Given the description of an element on the screen output the (x, y) to click on. 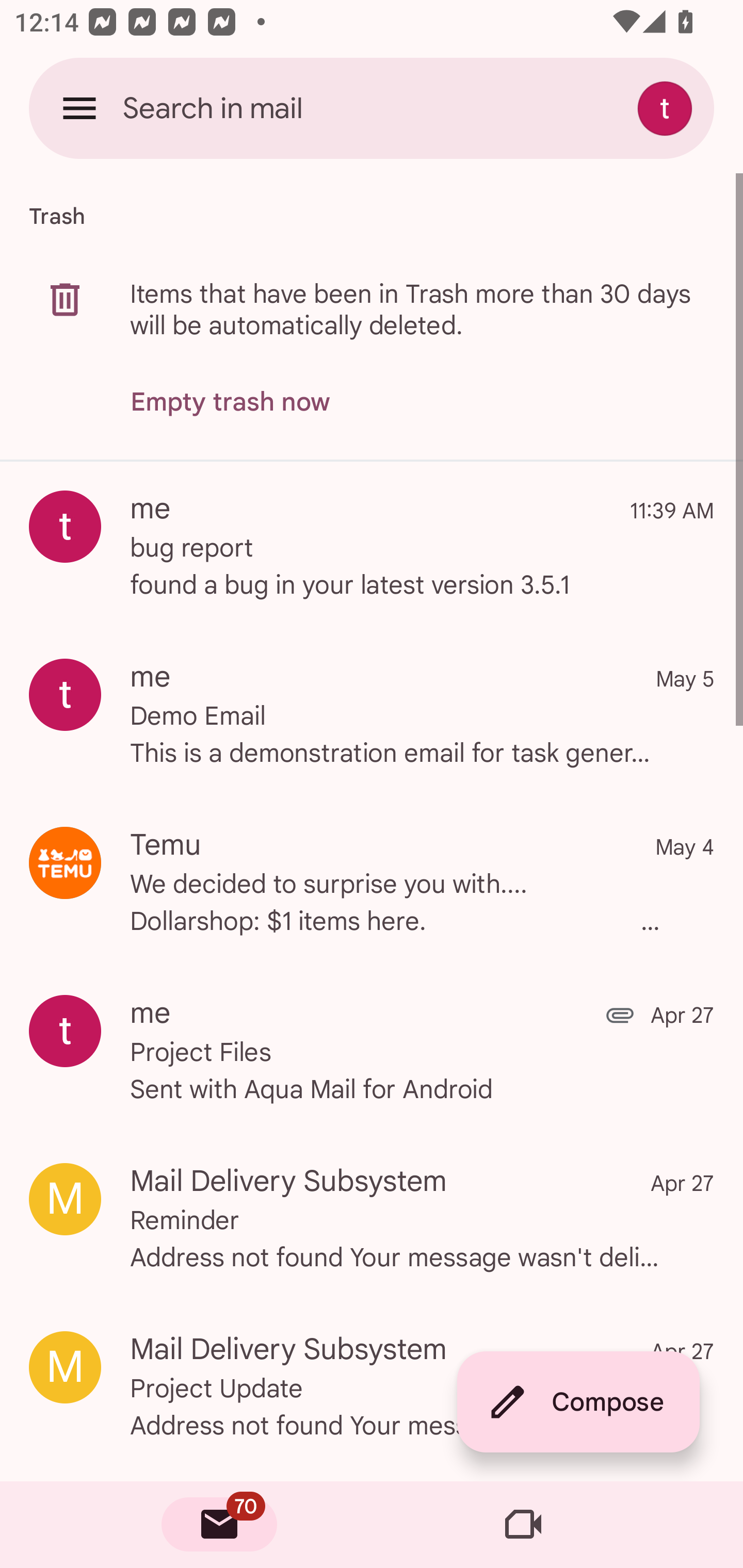
Open navigation drawer (79, 108)
Empty trash now (229, 402)
Compose (577, 1401)
Meet (523, 1524)
